Given the description of an element on the screen output the (x, y) to click on. 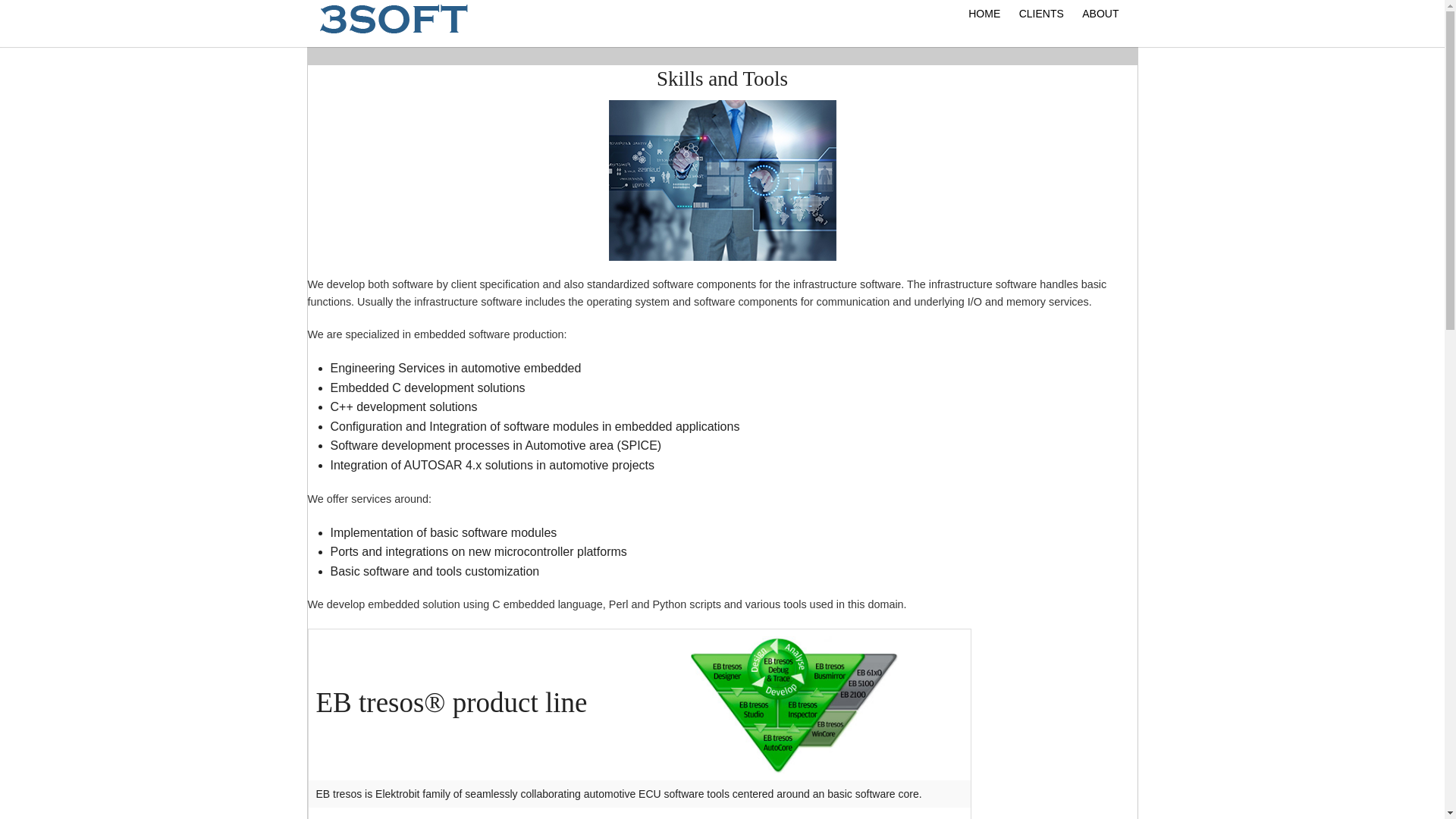
HOME (984, 13)
CLIENTS (1041, 13)
ABOUT (1099, 13)
